Given the description of an element on the screen output the (x, y) to click on. 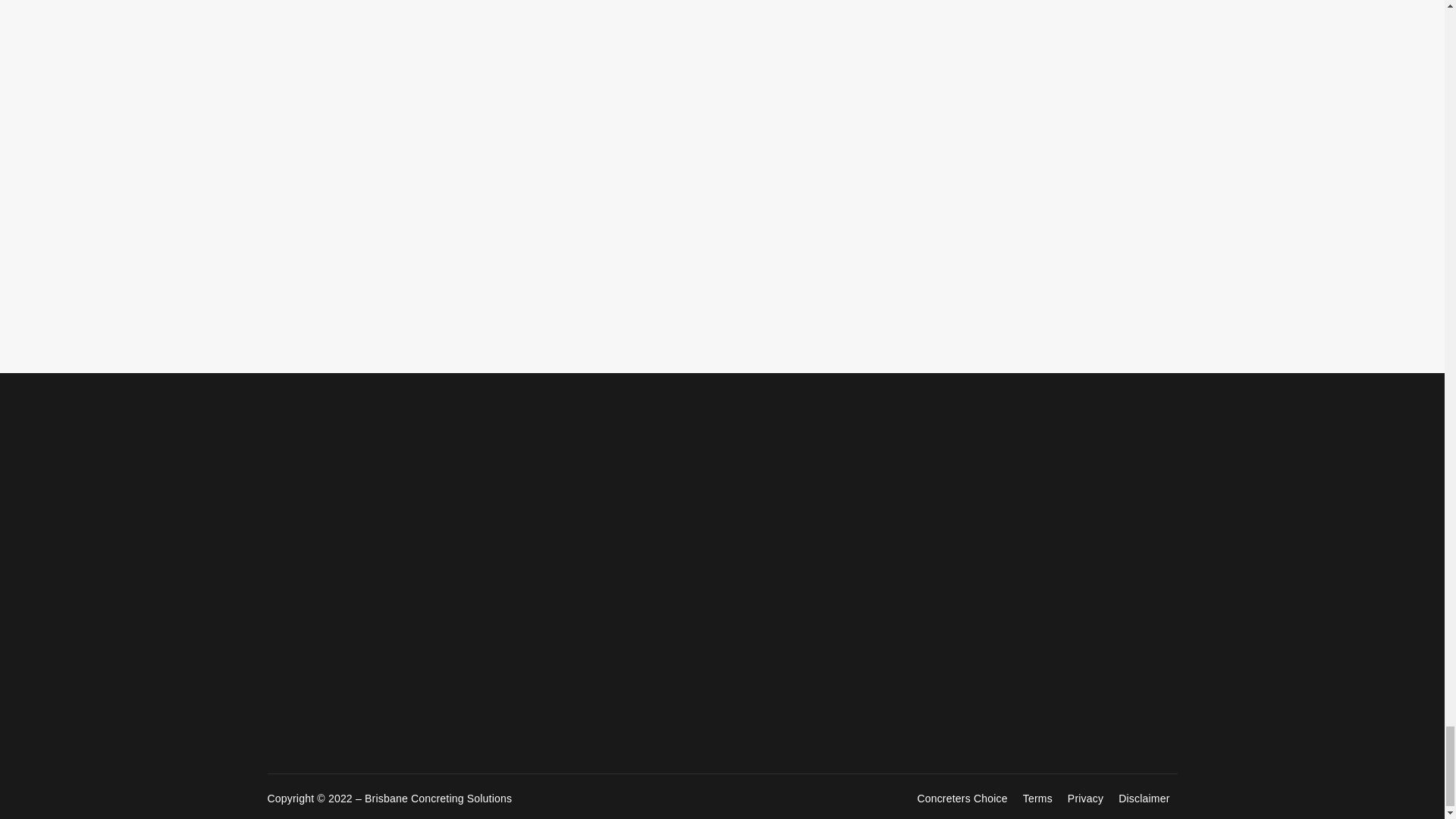
Disclaimer (1143, 798)
Terms (1036, 798)
Concreters Choice (961, 798)
Privacy (1084, 798)
